Given the description of an element on the screen output the (x, y) to click on. 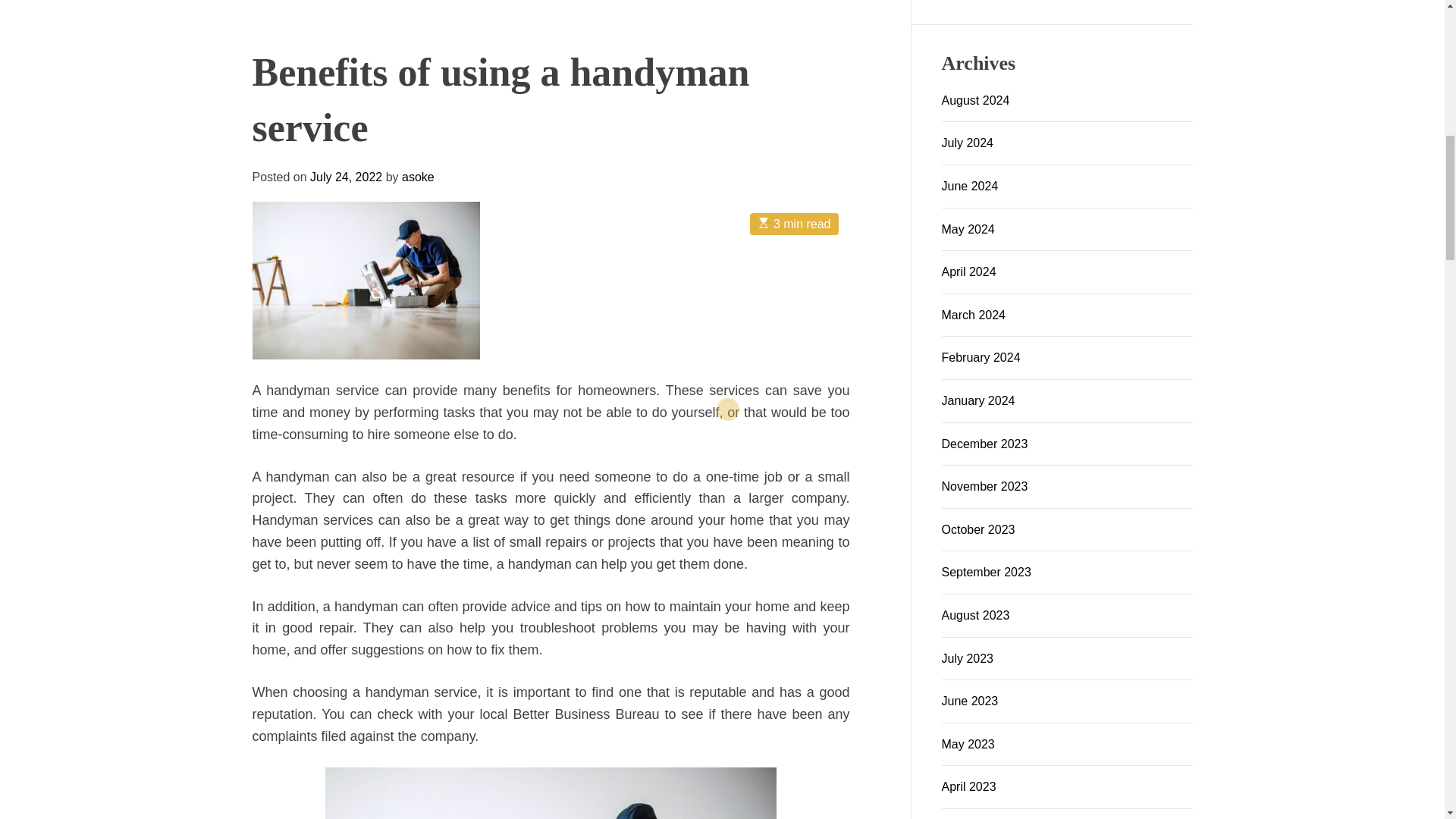
handyman in Piney Point Village (418, 559)
August 2024 (976, 100)
July 2024 (968, 142)
